Given the description of an element on the screen output the (x, y) to click on. 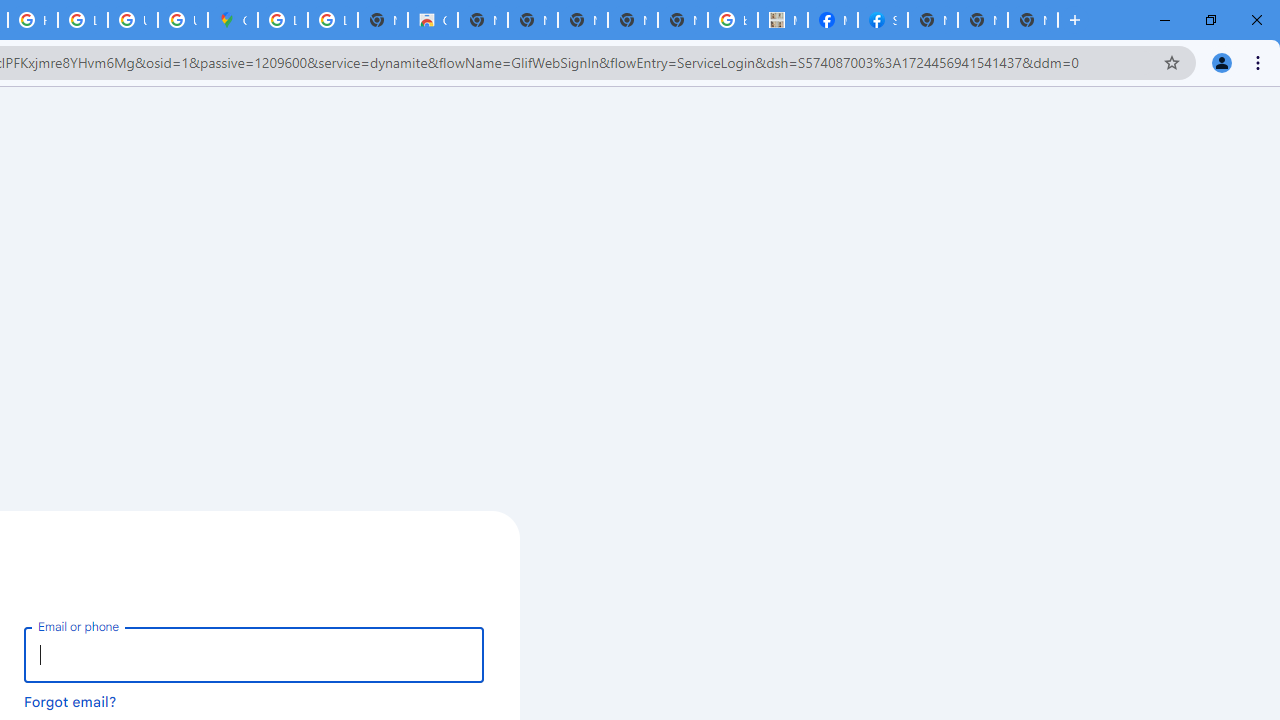
New Tab (932, 20)
New Tab (1032, 20)
Sign Up for Facebook (882, 20)
Google Maps (232, 20)
